Given the description of an element on the screen output the (x, y) to click on. 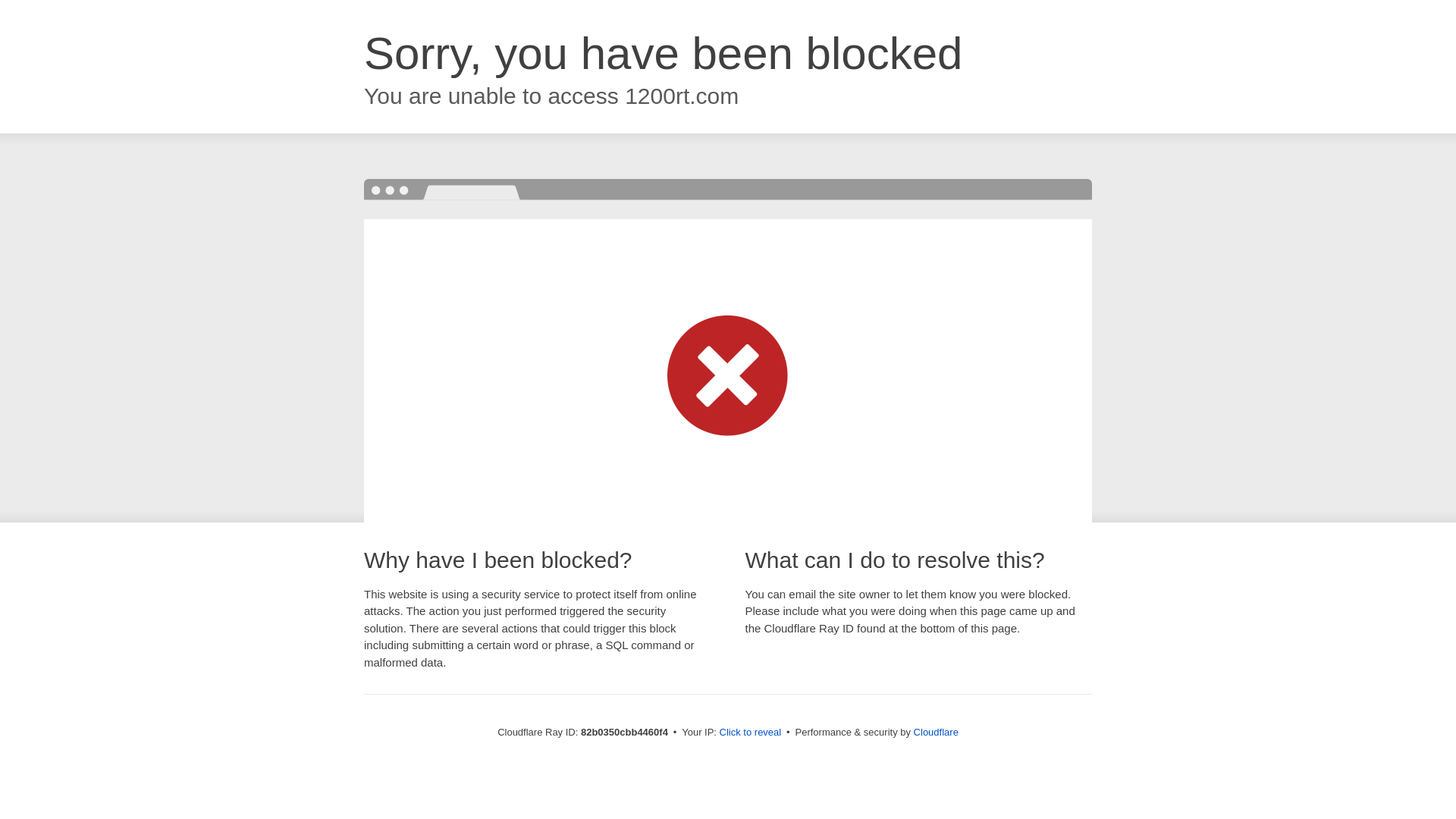
Click to reveal Element type: text (750, 732)
Cloudflare Element type: text (935, 731)
